Given the description of an element on the screen output the (x, y) to click on. 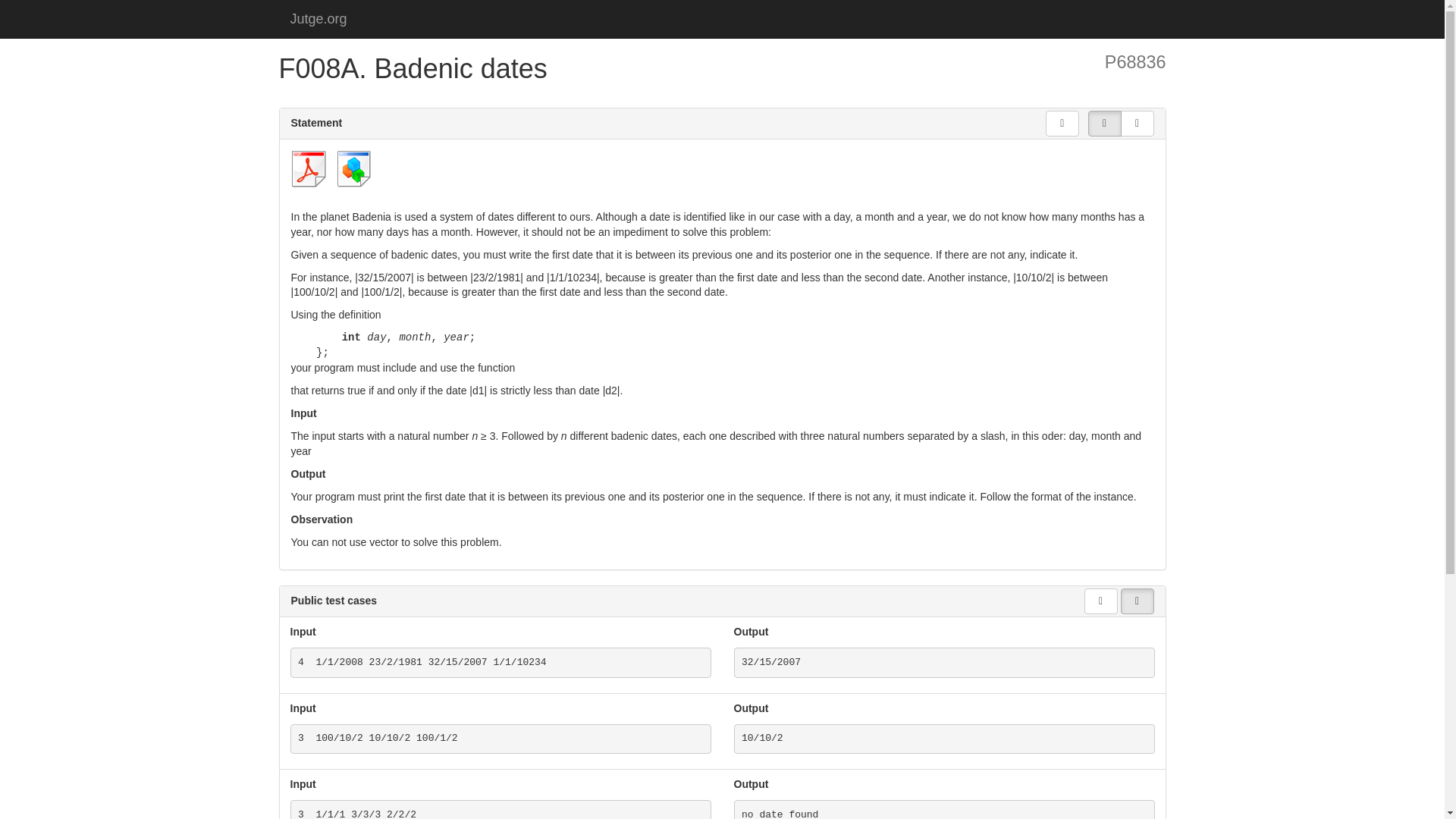
Get problem files as ZIP (354, 168)
Jutge.org (318, 18)
Switch view (1137, 601)
no date found (943, 809)
Get problem statement as PDF (309, 168)
